Given the description of an element on the screen output the (x, y) to click on. 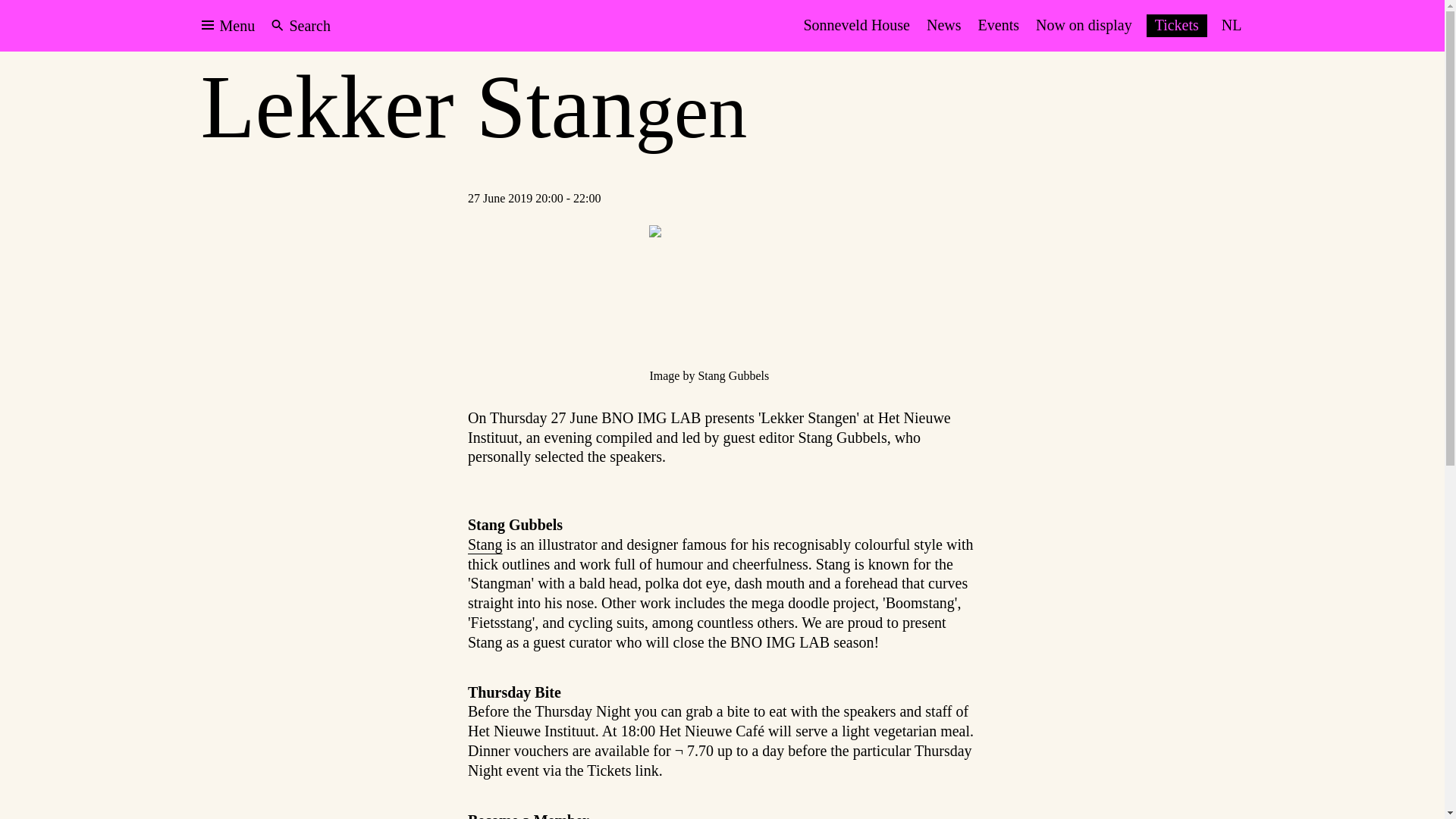
Now on display (1083, 25)
Menu (227, 25)
Sonneveld House (856, 25)
Tickets (1177, 25)
Search (301, 25)
News (943, 25)
Events (998, 25)
Stang (484, 544)
NL (1231, 25)
